Given the description of an element on the screen output the (x, y) to click on. 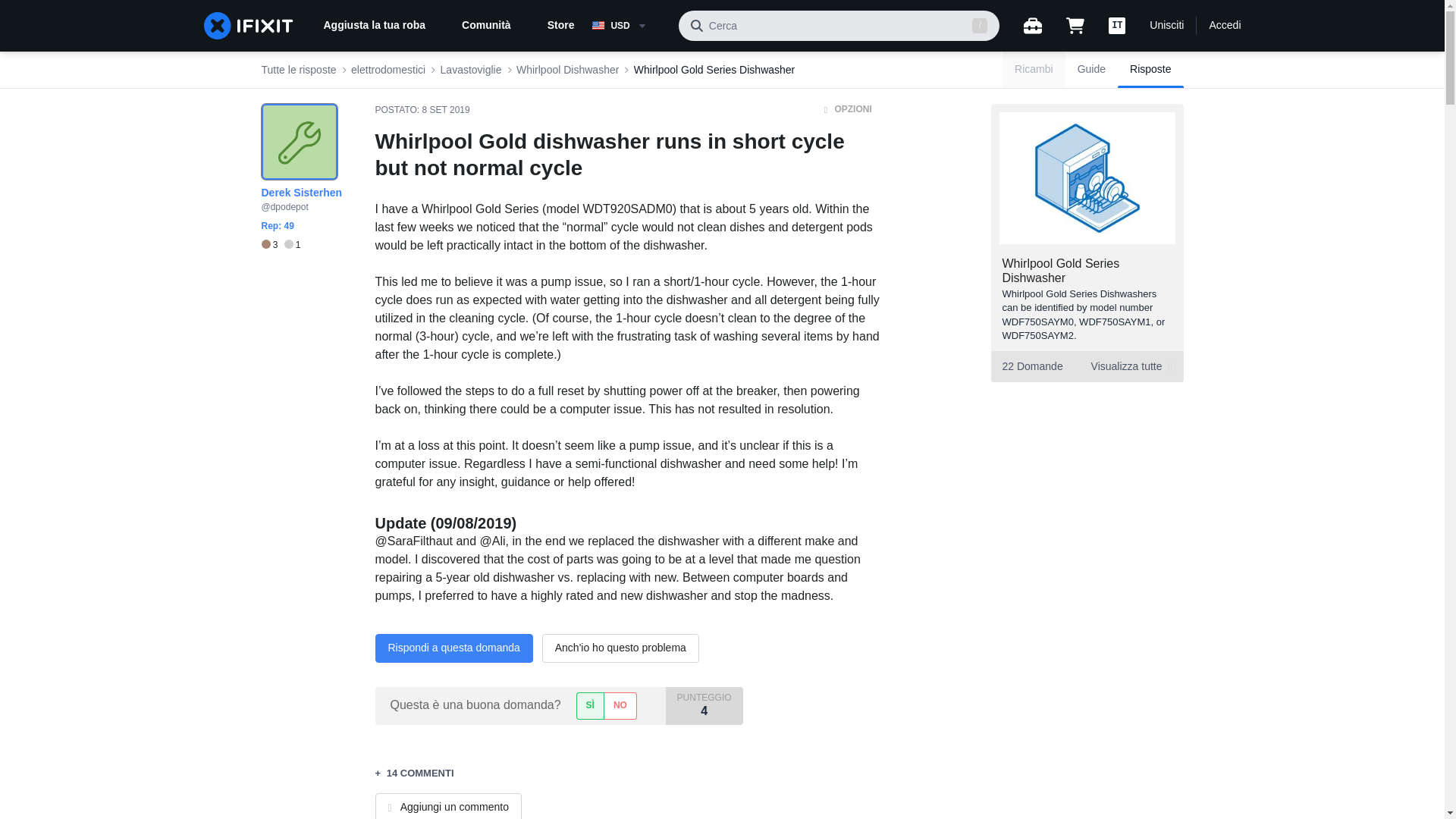
Guide (1091, 69)
Rispondi a questa domanda (453, 647)
Tutte le risposte (298, 69)
1 Argento distintivi (292, 245)
Accedi (1086, 366)
3 1 (1224, 25)
Lavastoviglie (279, 245)
Risposte (471, 69)
Anch'io ho questo problema (1150, 69)
